Given the description of an element on the screen output the (x, y) to click on. 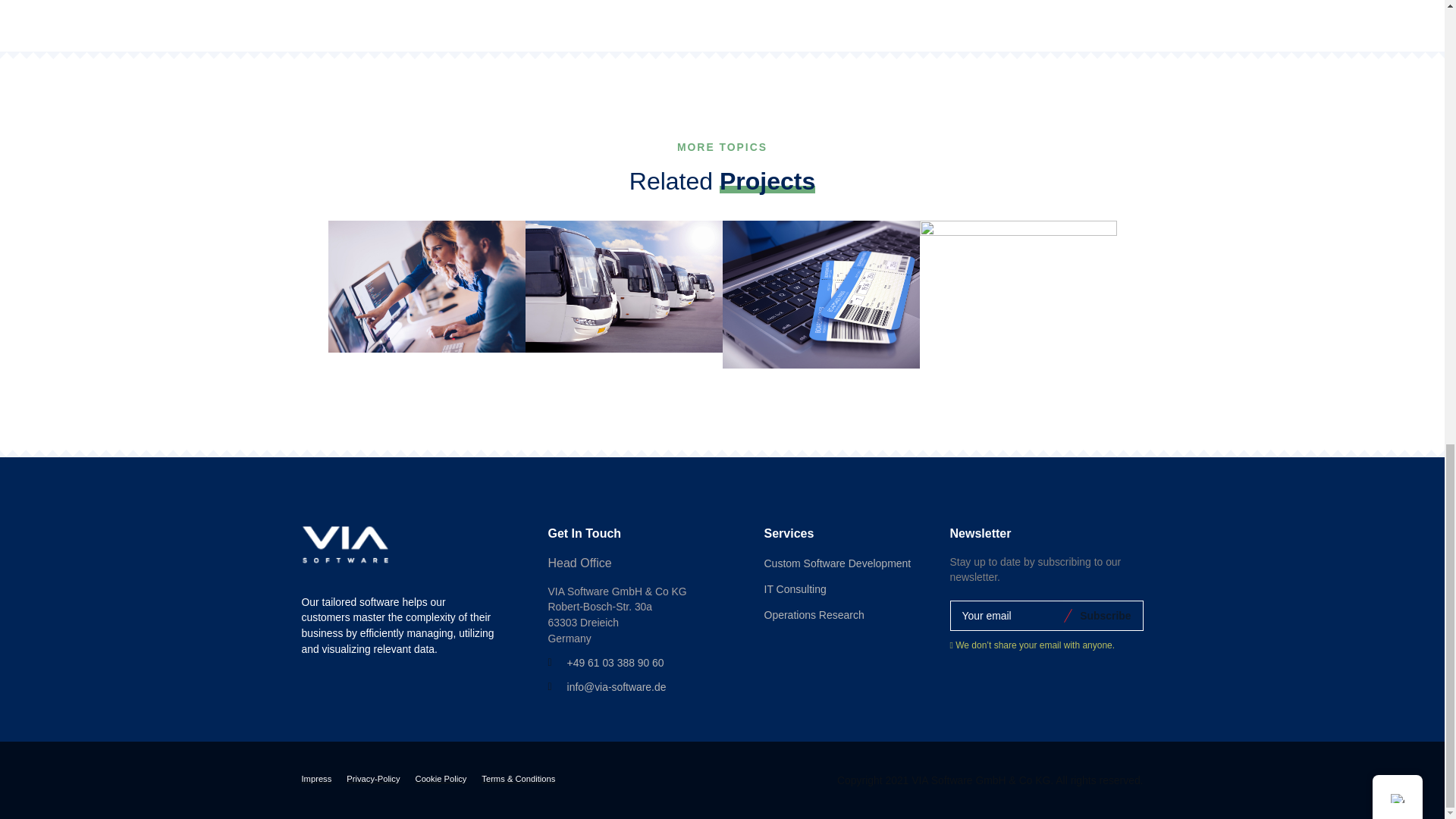
Impress (316, 779)
IT Consulting (795, 589)
Custom Software Development (837, 564)
Subscribe (1102, 615)
Operations Research (814, 615)
Cookie Policy (440, 779)
Privacy-Policy (372, 779)
